Given the description of an element on the screen output the (x, y) to click on. 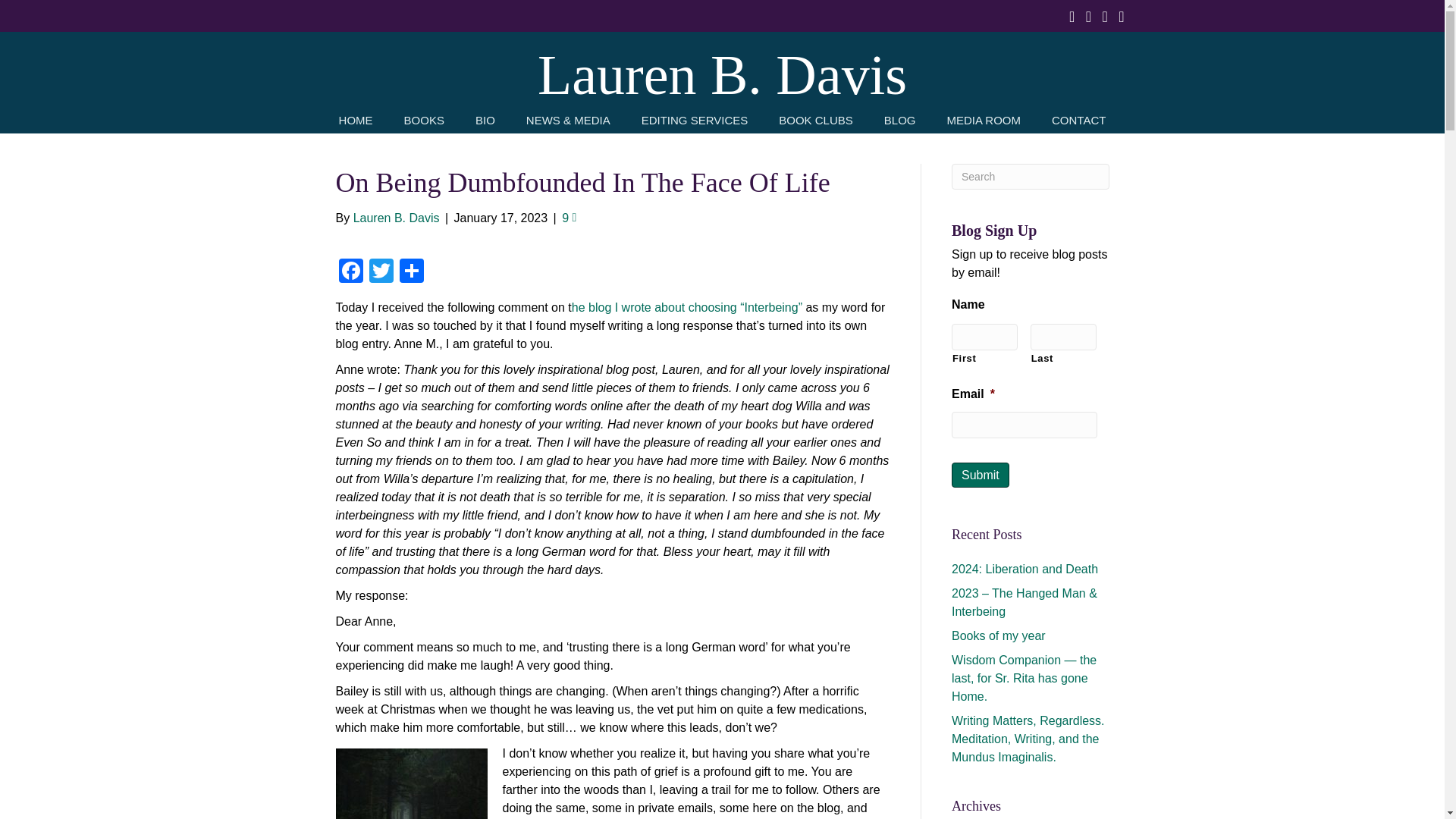
Twitter (380, 272)
CONTACT (1078, 118)
Facebook (349, 272)
Lauren B. Davis (722, 75)
Lauren B. Davis (722, 75)
BOOK CLUBS (815, 118)
Lauren B. Davis (396, 217)
Facebook (349, 272)
EDITING SERVICES (695, 118)
BLOG (899, 118)
Twitter (380, 272)
BIO (485, 118)
MEDIA ROOM (983, 118)
HOME (355, 118)
Type and press Enter to search. (1030, 176)
